Given the description of an element on the screen output the (x, y) to click on. 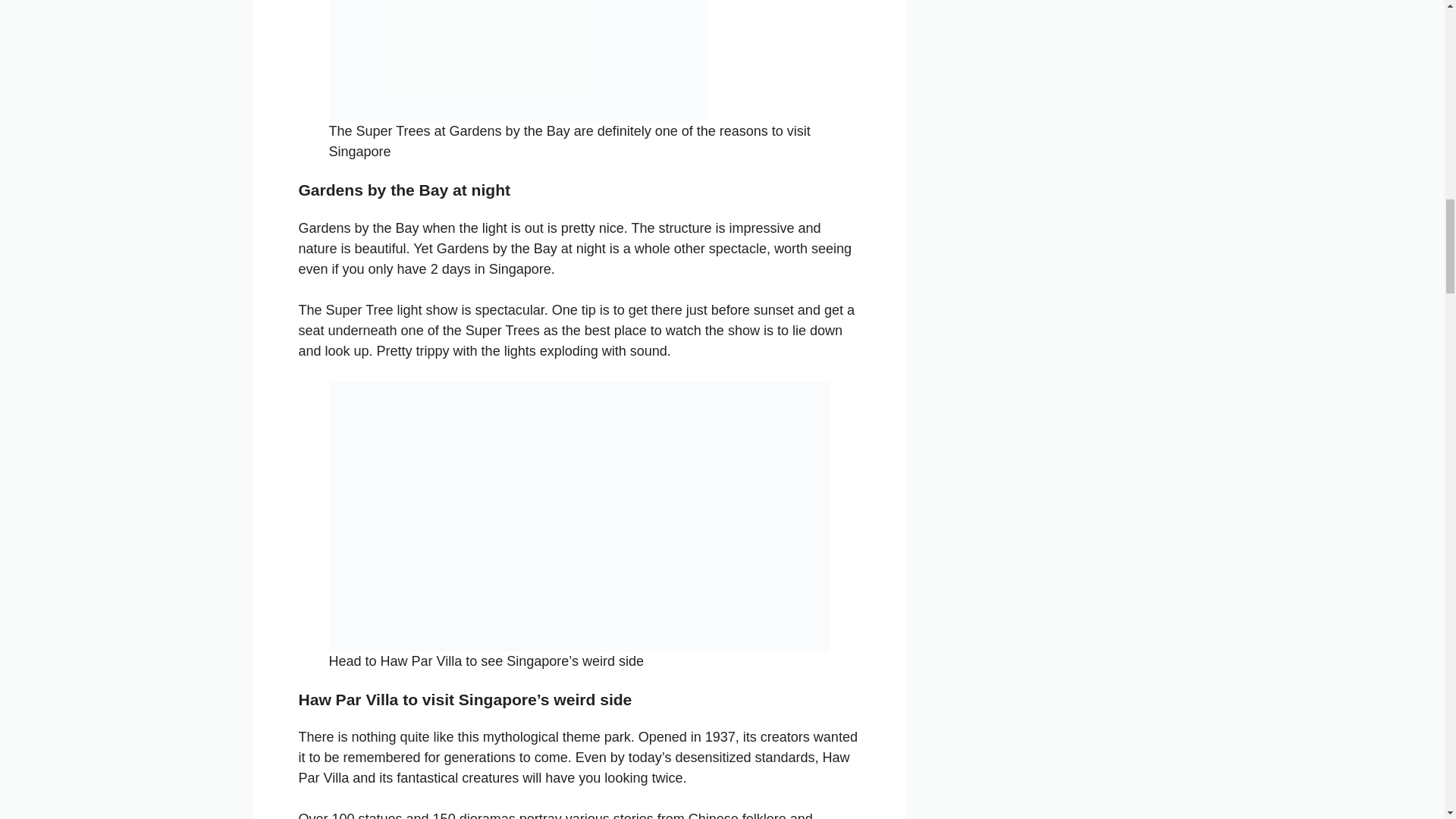
2 days in Singapore (490, 268)
